Given the description of an element on the screen output the (x, y) to click on. 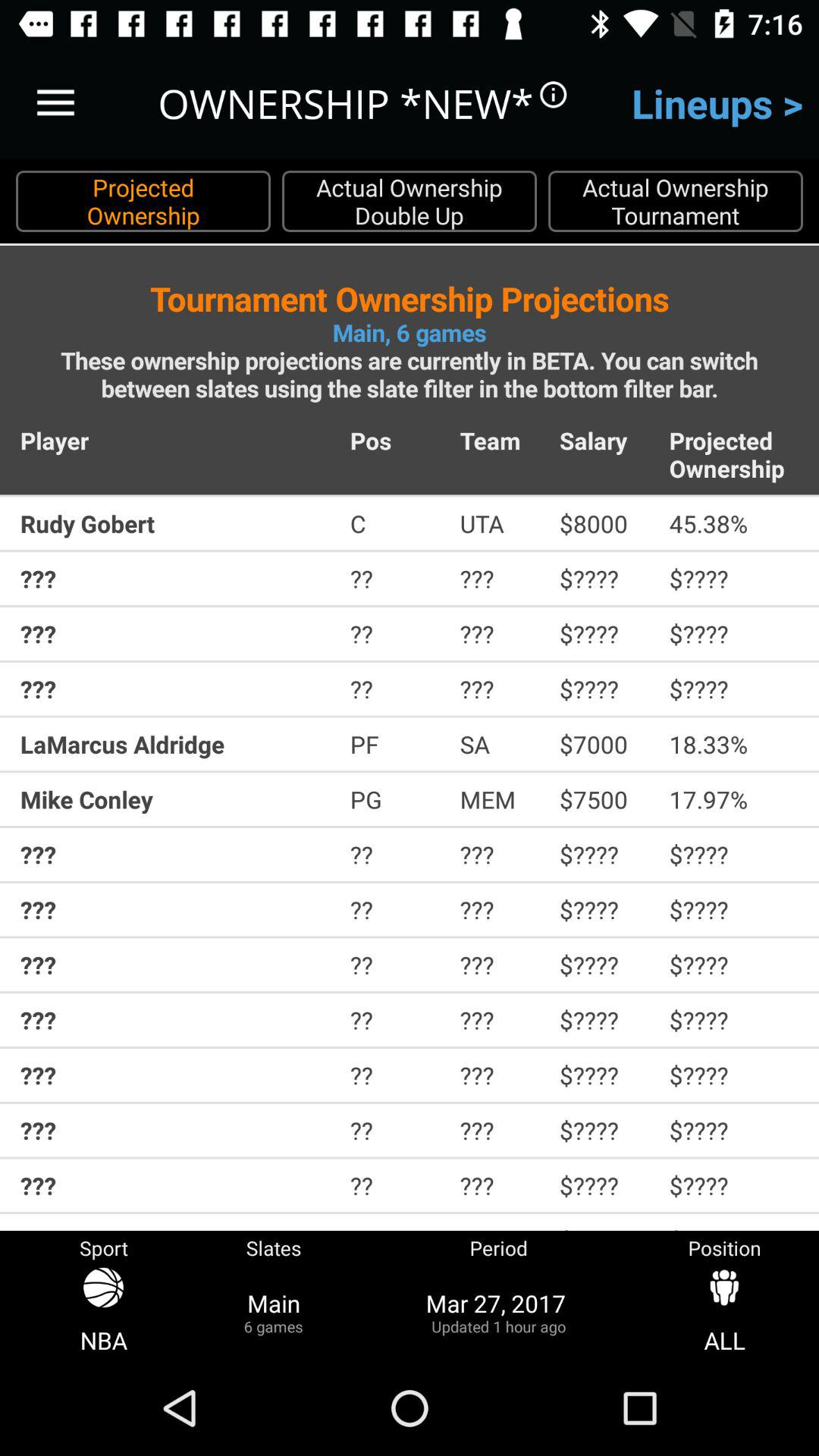
select the item next to the slates item (499, 1311)
